Given the description of an element on the screen output the (x, y) to click on. 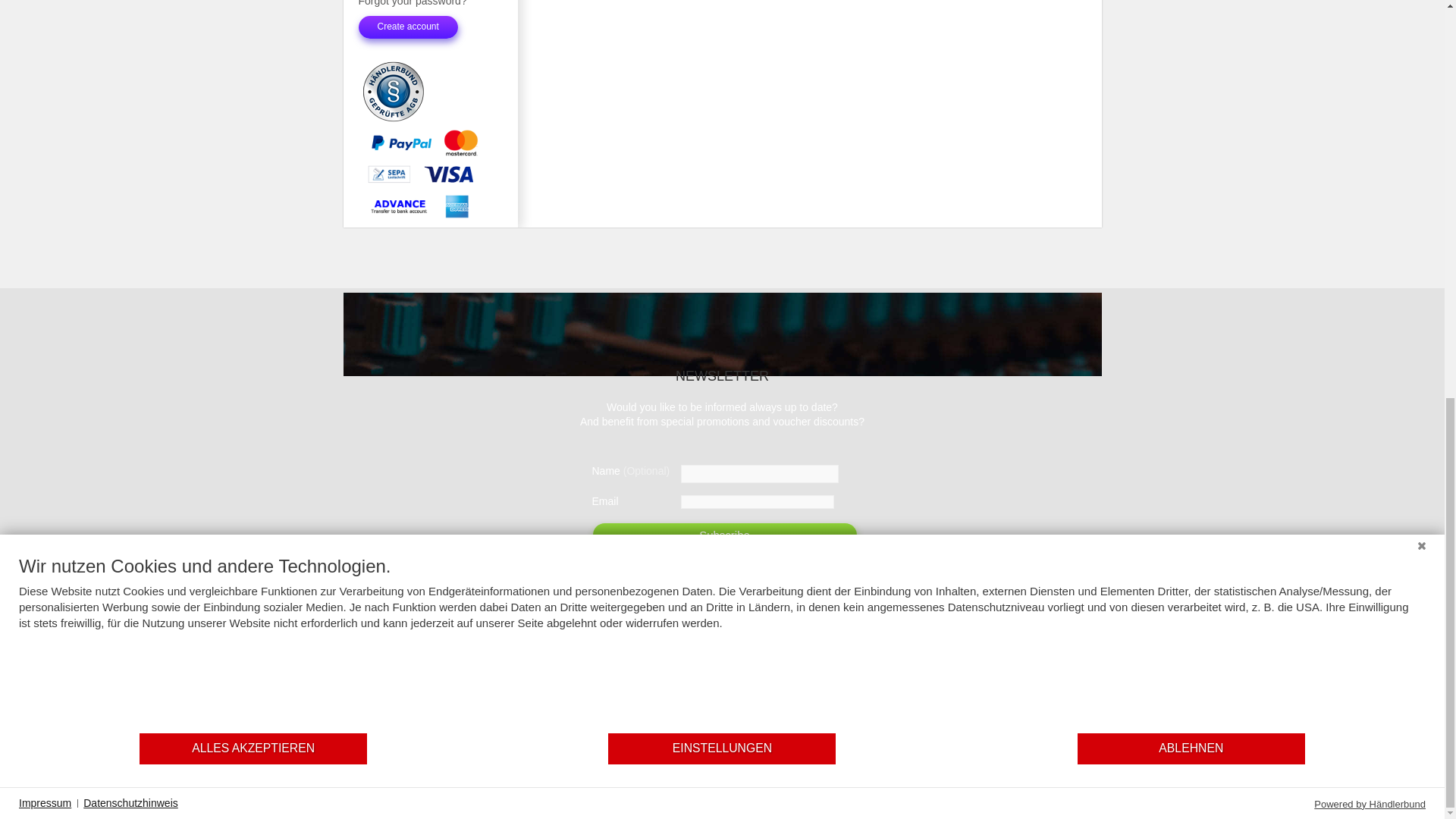
Mastercard (459, 142)
Visa (448, 174)
Sepa Lastschrift (388, 173)
PayPal (400, 142)
american express (456, 206)
Vorkasse (400, 206)
